Given the description of an element on the screen output the (x, y) to click on. 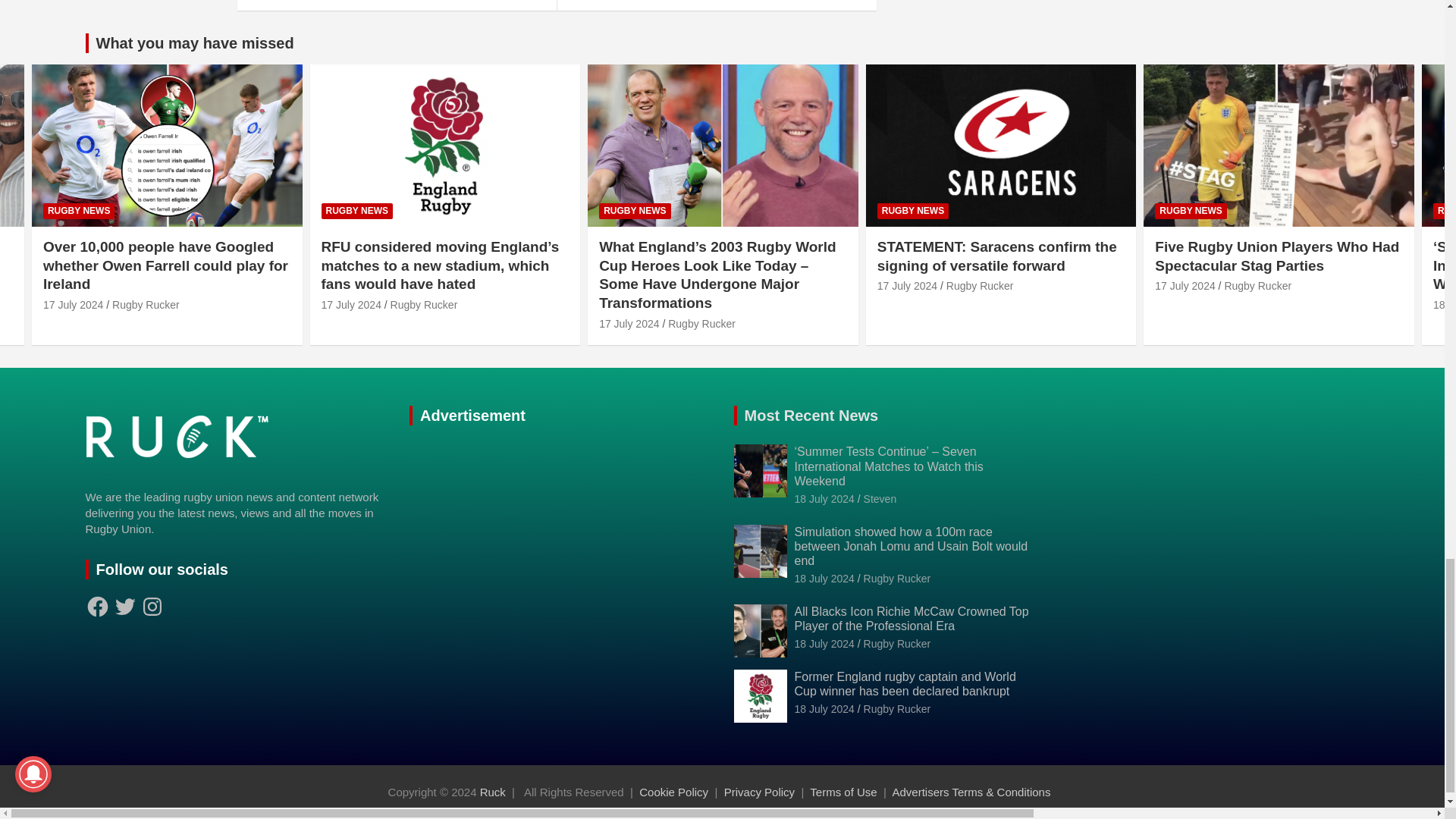
STATEMENT: Saracens confirm the signing of versatile forward (907, 285)
